Given the description of an element on the screen output the (x, y) to click on. 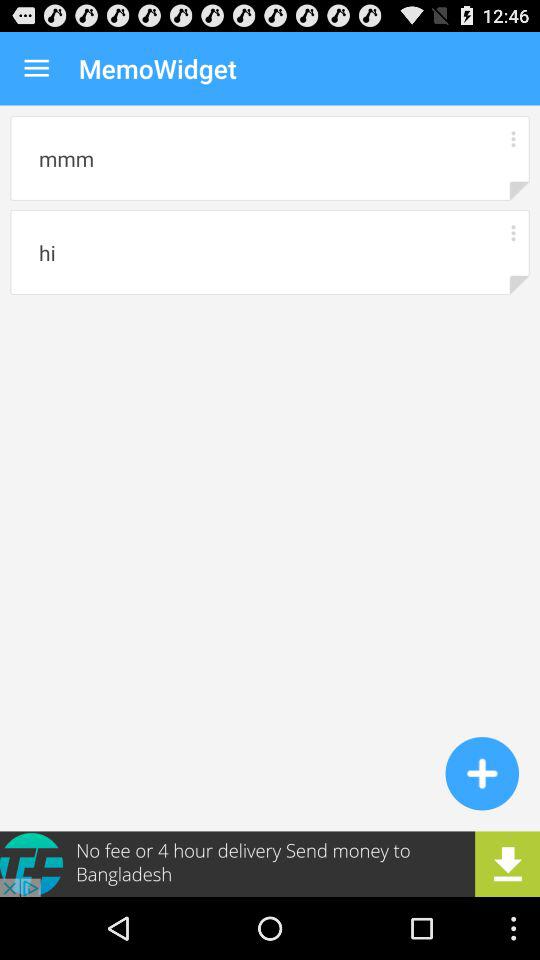
go to advertisement (270, 864)
